Given the description of an element on the screen output the (x, y) to click on. 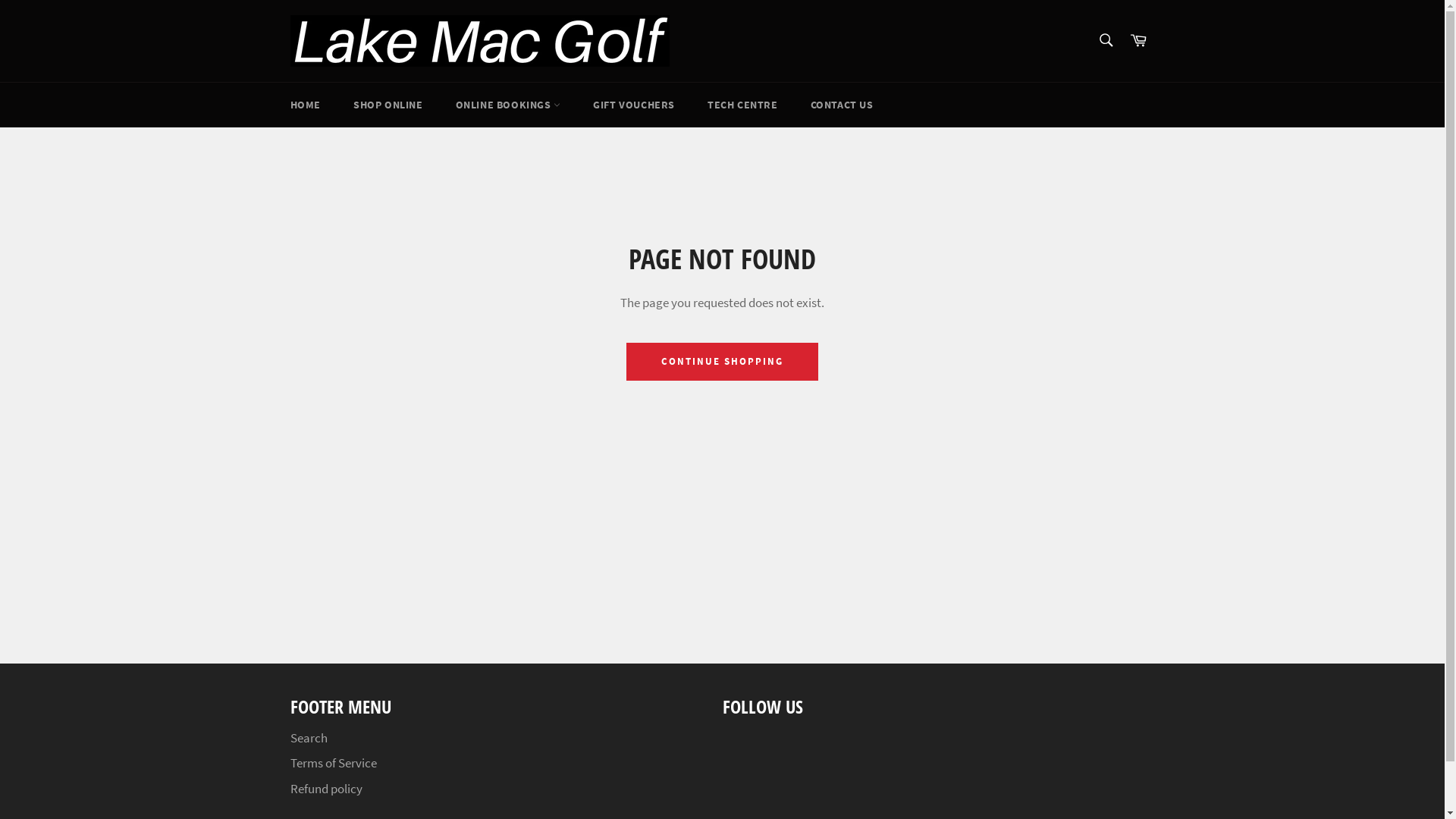
SHOP ONLINE Element type: text (388, 104)
Cart Element type: text (1138, 41)
CONTACT US Element type: text (841, 104)
CONTINUE SHOPPING Element type: text (721, 361)
Terms of Service Element type: text (332, 762)
TECH CENTRE Element type: text (742, 104)
ONLINE BOOKINGS Element type: text (508, 104)
Search Element type: text (1105, 40)
Search Element type: text (307, 737)
HOME Element type: text (304, 104)
GIFT VOUCHERS Element type: text (633, 104)
Refund policy Element type: text (325, 788)
